Given the description of an element on the screen output the (x, y) to click on. 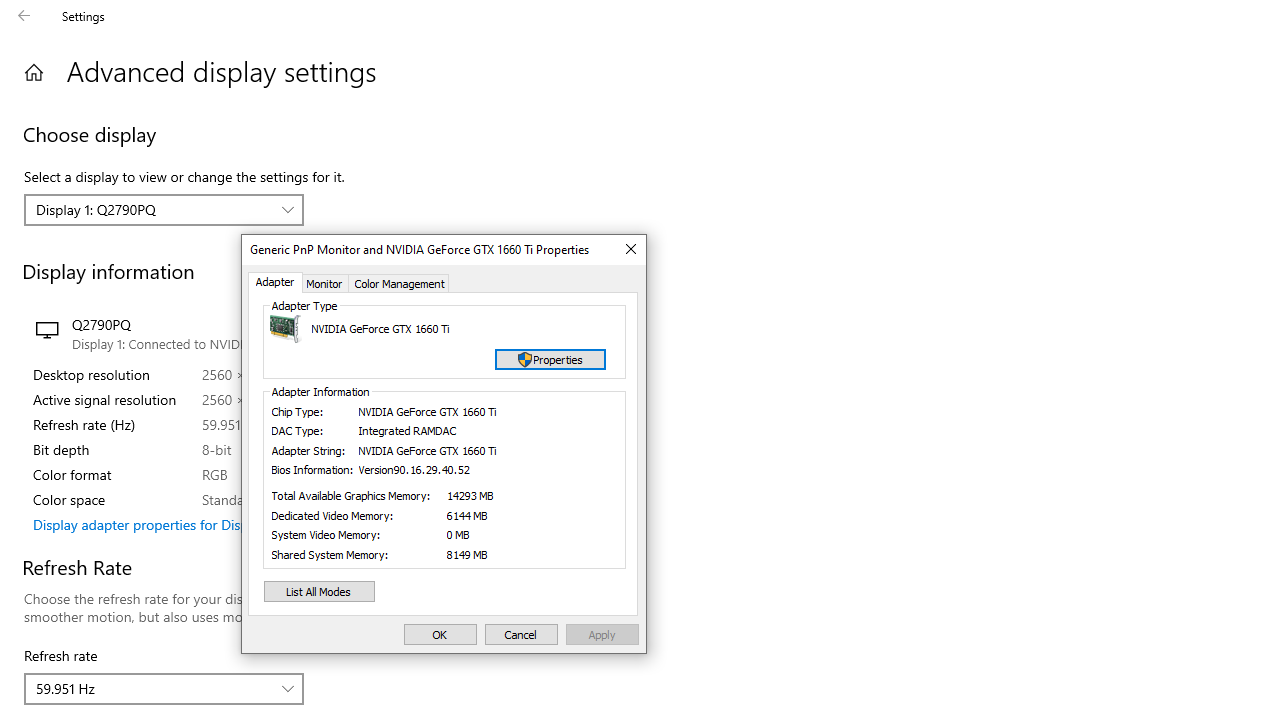
Color Management (399, 283)
OK (440, 633)
List All Modes (319, 591)
Adapter (274, 283)
Properties (550, 358)
Close (629, 249)
Cancel (521, 633)
Apply (602, 633)
Monitor (324, 283)
